Given the description of an element on the screen output the (x, y) to click on. 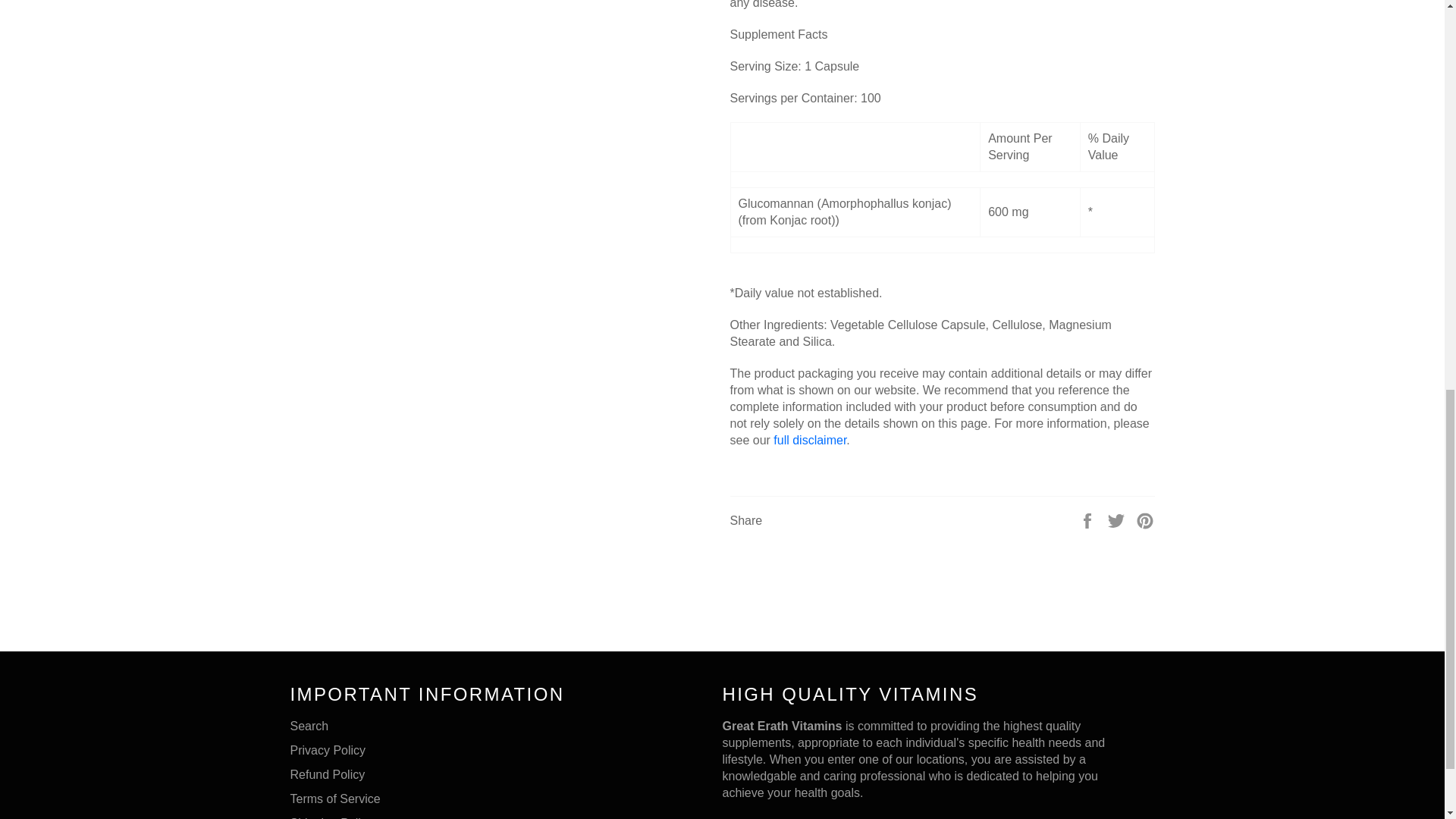
Pin on Pinterest (1144, 519)
Pin on Pinterest (1144, 519)
Share on Facebook (1088, 519)
Search (309, 725)
Shipping Policy (330, 817)
Refund Policy (327, 774)
full disclaimer (809, 440)
Share on Facebook (1088, 519)
Tweet on Twitter (1117, 519)
Tweet on Twitter (1117, 519)
Terms of Service (334, 798)
Privacy Policy (327, 749)
